Given the description of an element on the screen output the (x, y) to click on. 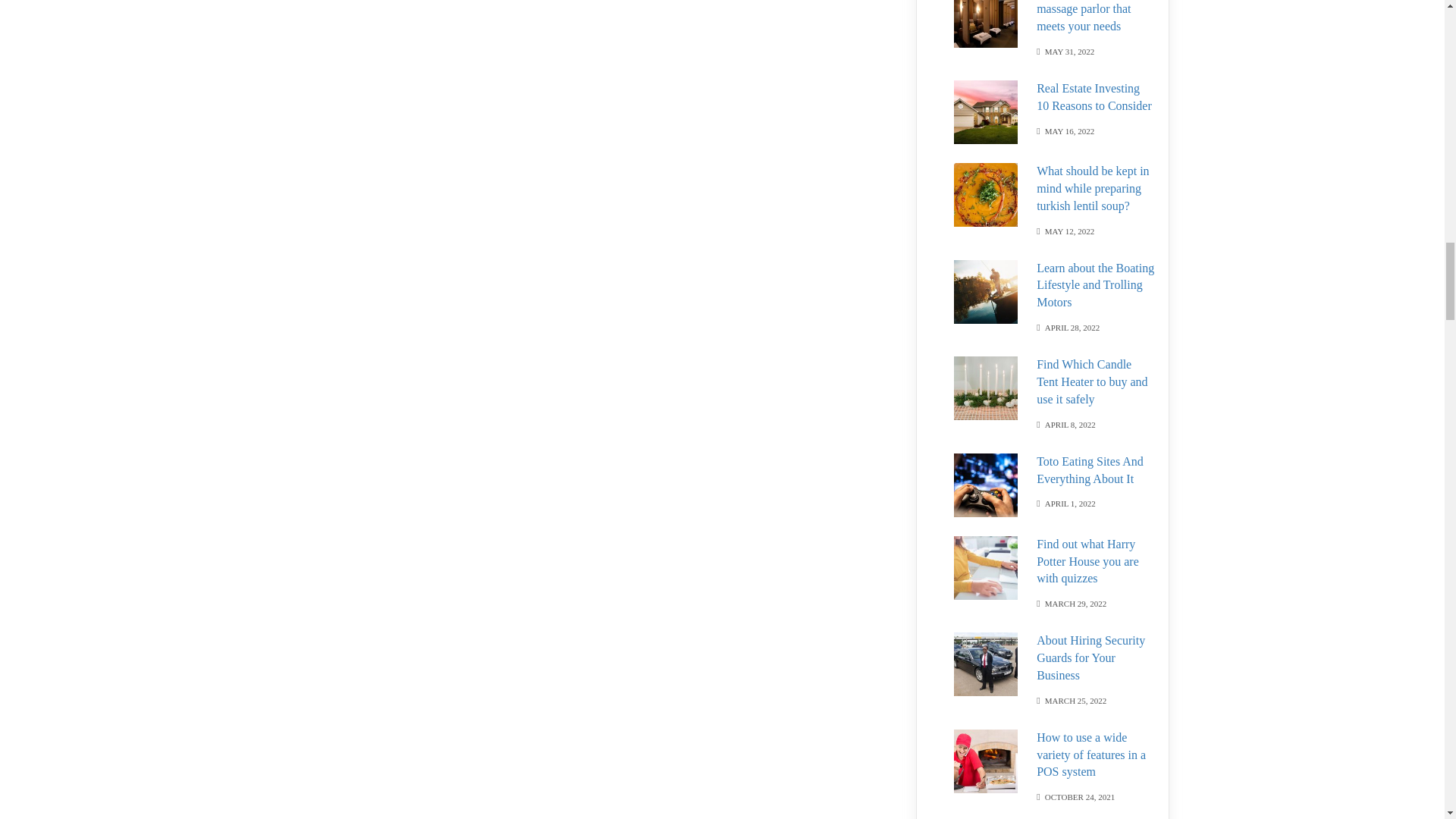
MAY 31, 2022 (1069, 50)
